Given the description of an element on the screen output the (x, y) to click on. 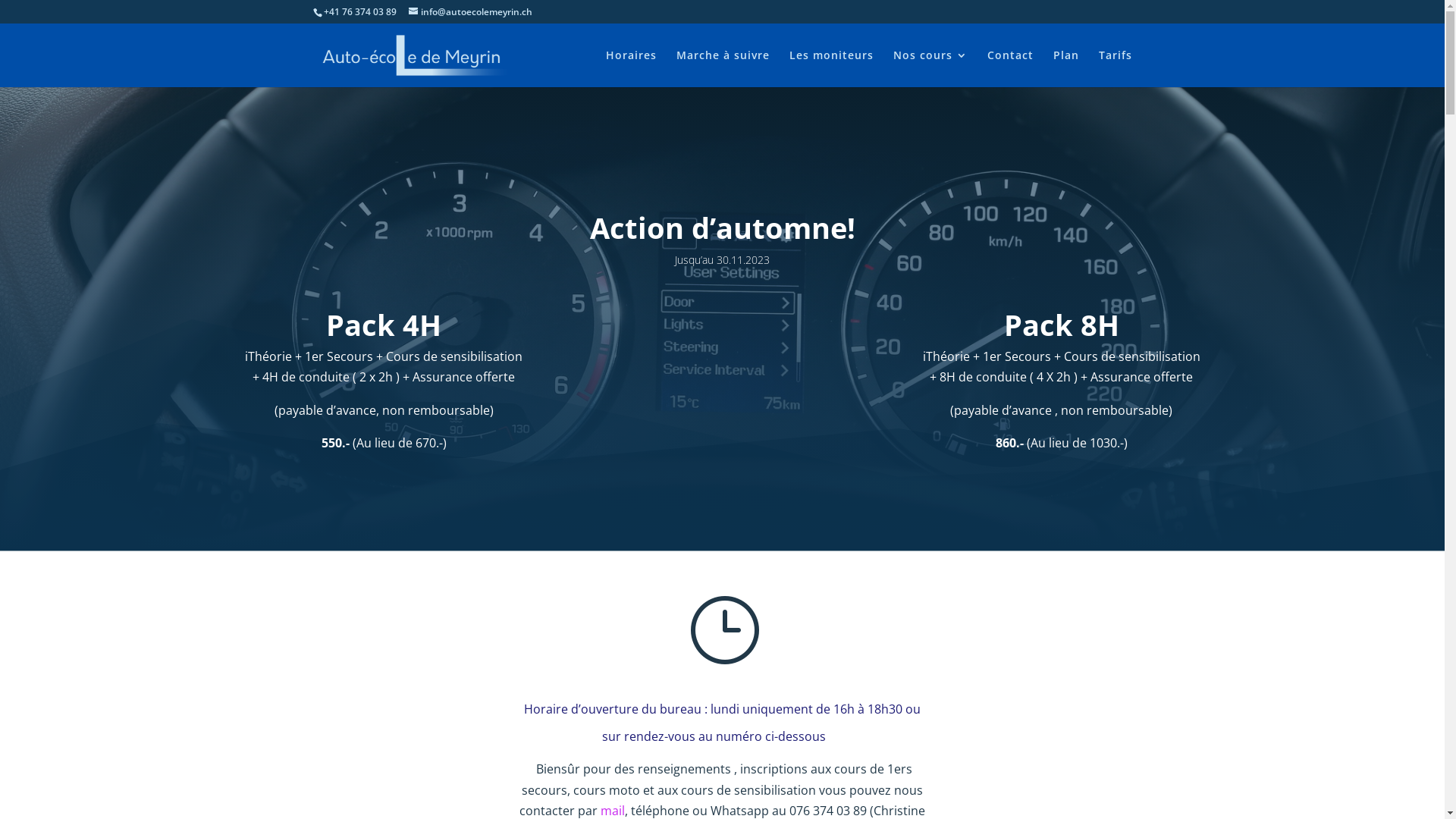
Tarifs Element type: text (1114, 68)
Les moniteurs Element type: text (830, 68)
Contact Element type: text (1010, 68)
Plan Element type: text (1065, 68)
info@autoecolemeyrin.ch Element type: text (469, 11)
Nos cours Element type: text (930, 68)
Horaires Element type: text (630, 68)
